Given the description of an element on the screen output the (x, y) to click on. 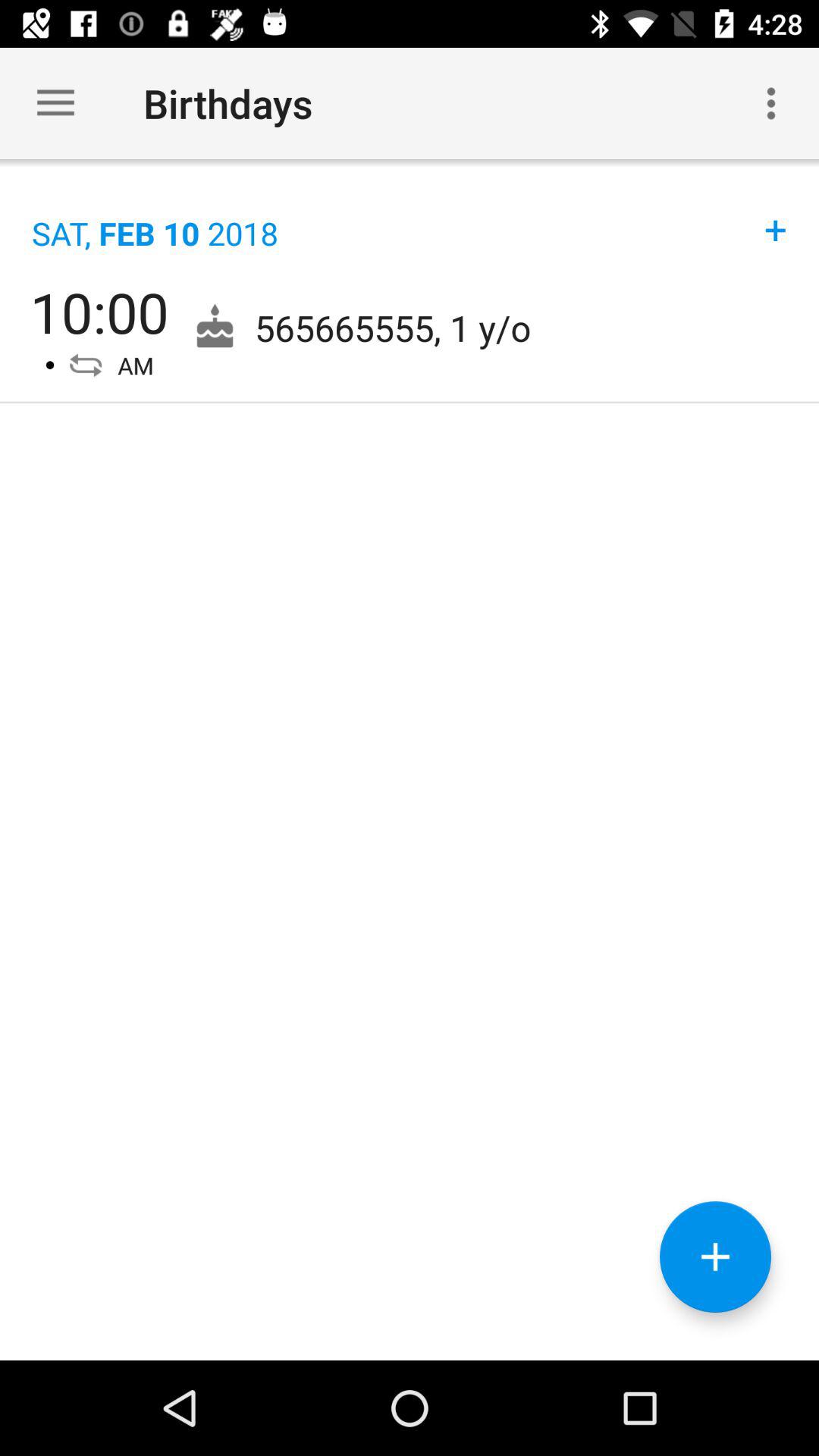
add a birthday (715, 1256)
